Given the description of an element on the screen output the (x, y) to click on. 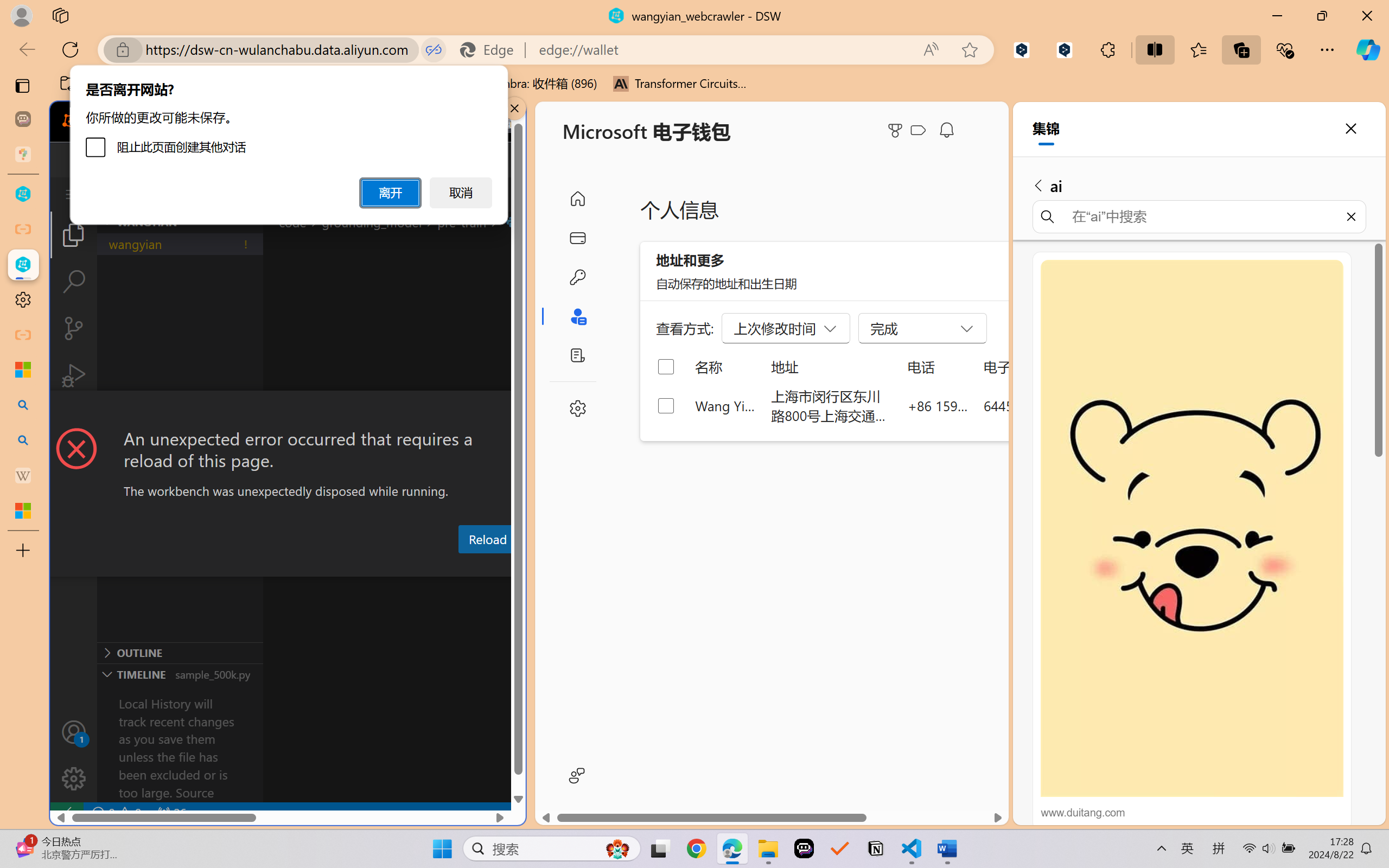
Microsoft security help and learning (22, 369)
Copilot (Ctrl+Shift+.) (1368, 49)
+86 159 0032 4640 (938, 405)
